Given the description of an element on the screen output the (x, y) to click on. 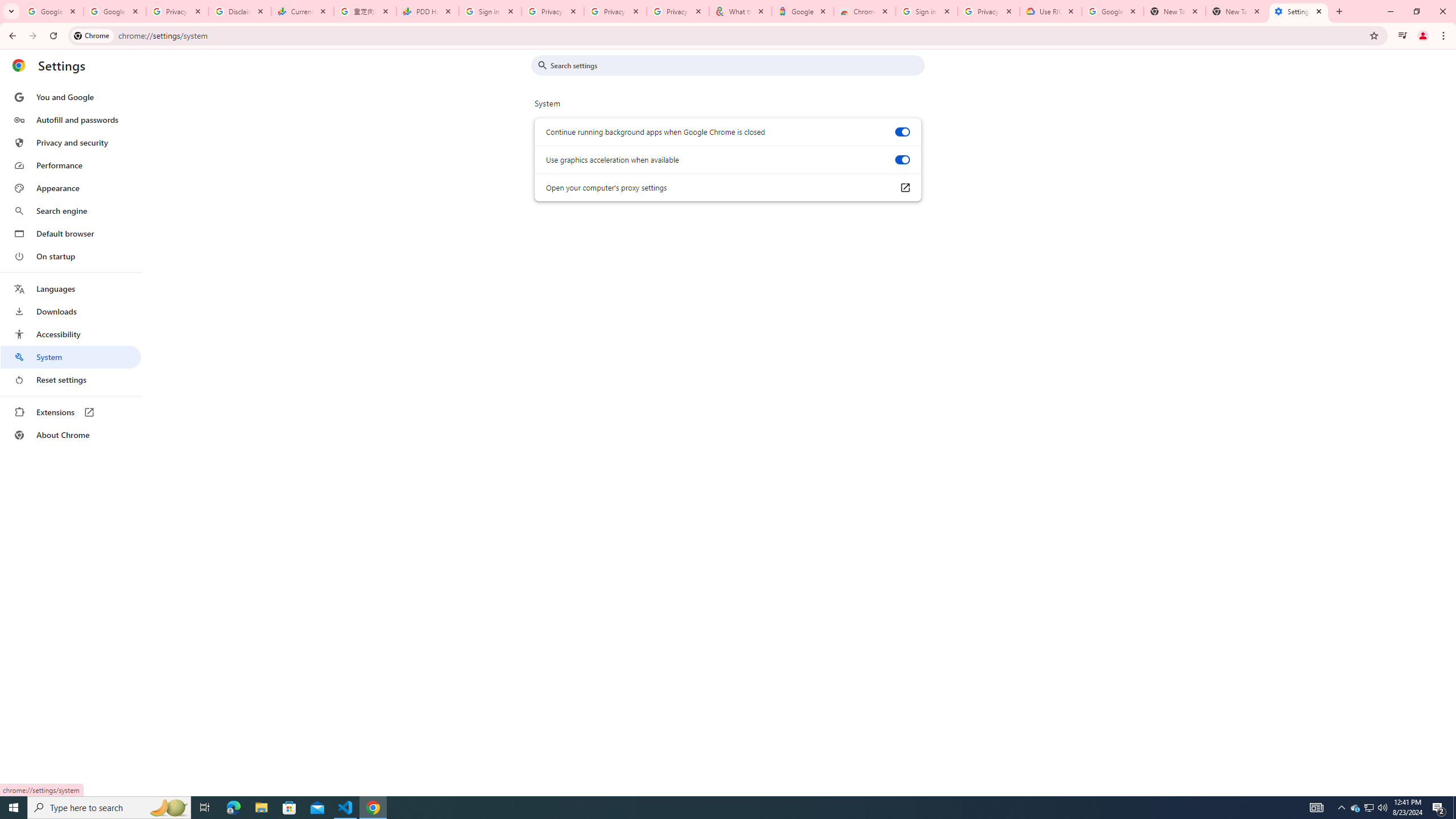
New Tab (1236, 11)
Extensions (70, 412)
Chrome Web Store - Color themes by Chrome (864, 11)
Google Workspace Admin Community (52, 11)
Open your computer's proxy settings (904, 187)
Reset settings (70, 379)
AutomationID: menu (71, 265)
